Given the description of an element on the screen output the (x, y) to click on. 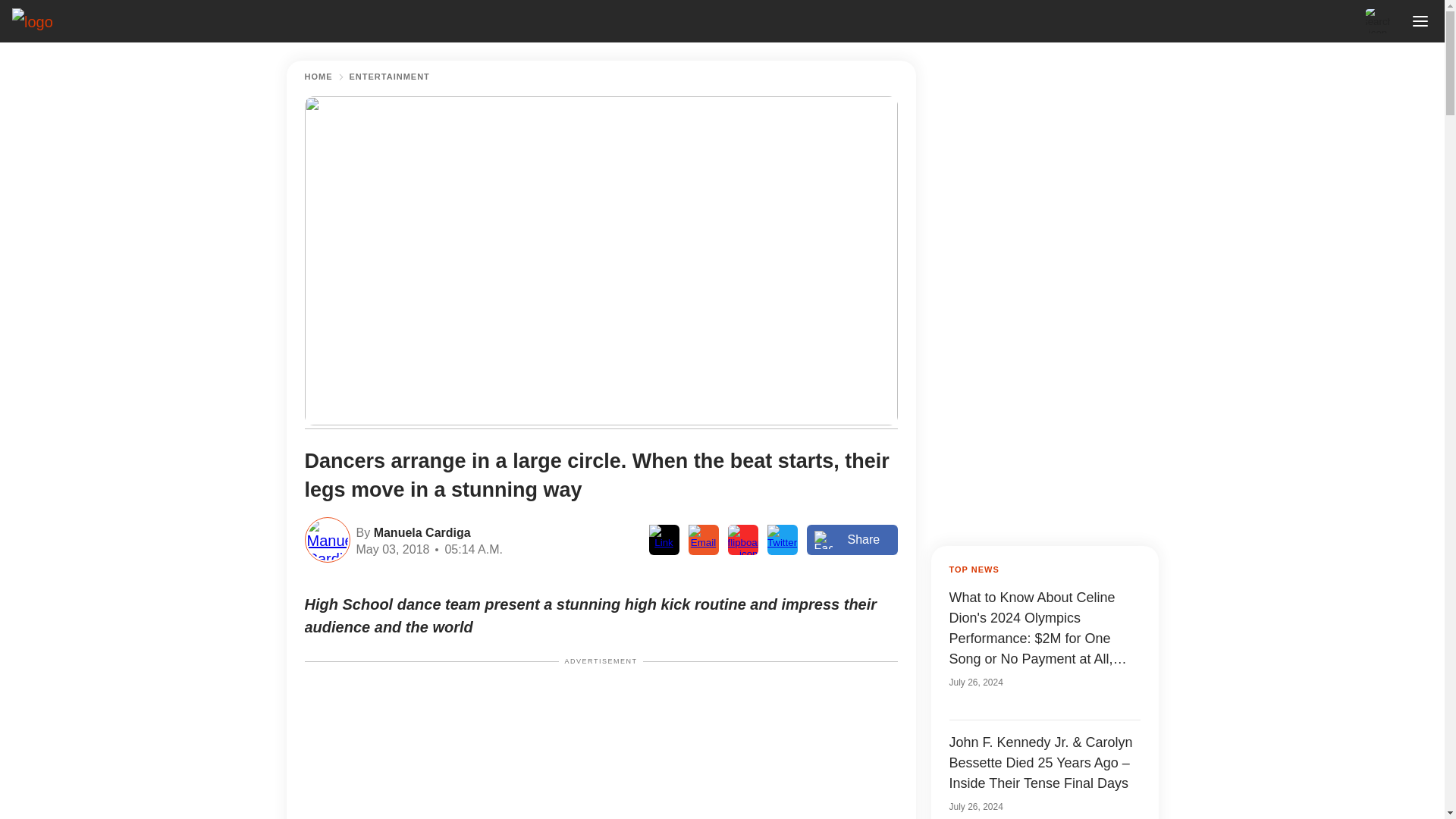
Manuela Cardiga (419, 531)
ENTERTAINMENT (389, 76)
HOME (318, 76)
